Given the description of an element on the screen output the (x, y) to click on. 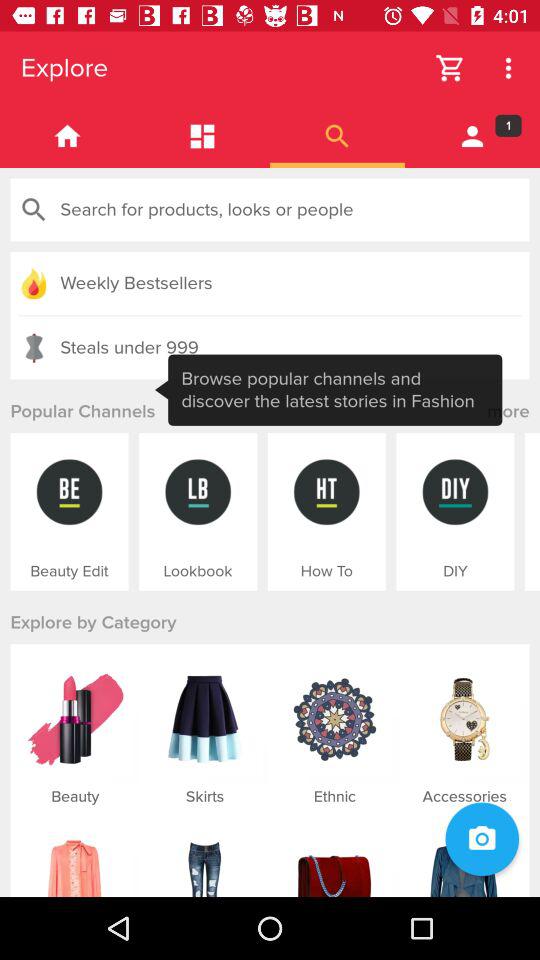
go to shopping cart (450, 68)
